Given the description of an element on the screen output the (x, y) to click on. 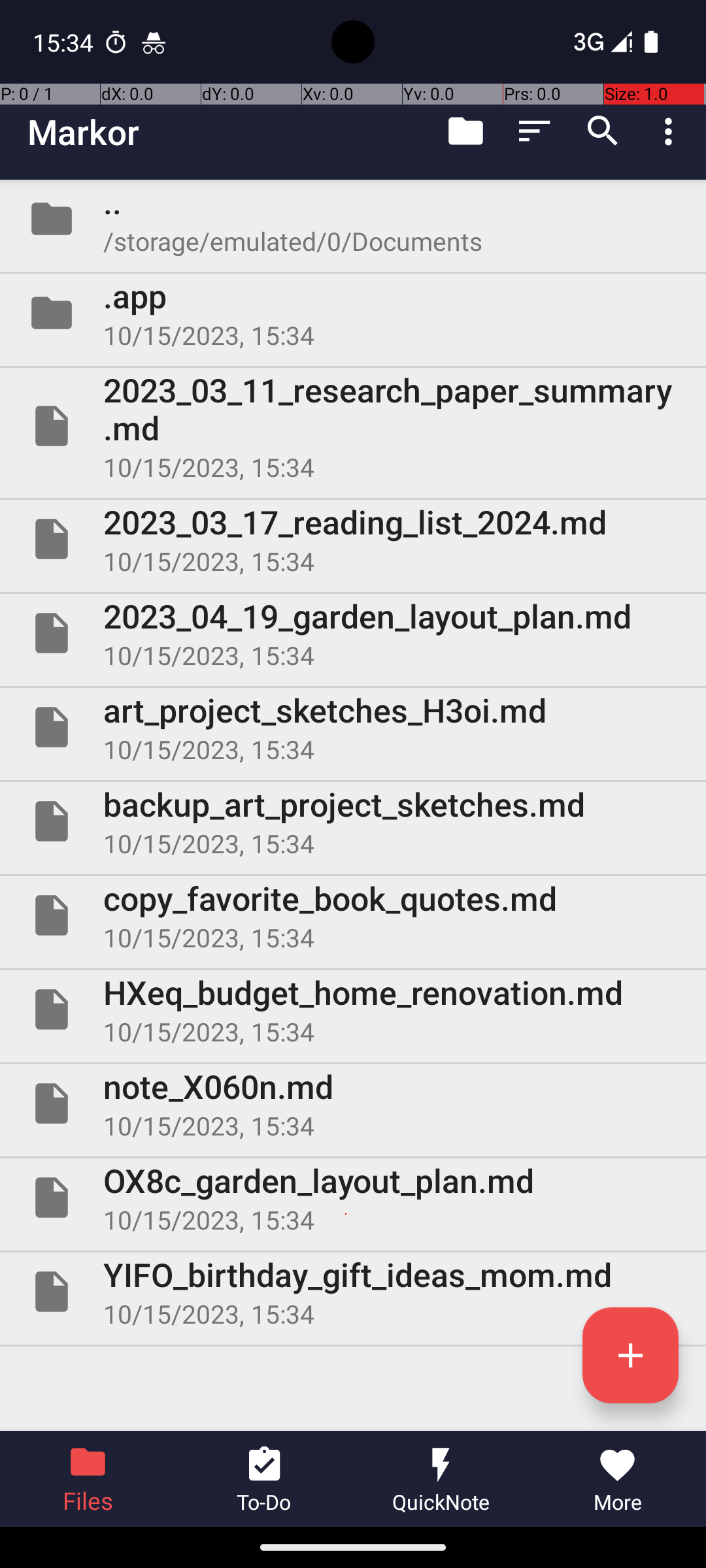
Folder .app  Element type: android.widget.LinearLayout (353, 312)
File 2023_03_11_research_paper_summary.md  Element type: android.widget.LinearLayout (353, 425)
File 2023_03_17_reading_list_2024.md  Element type: android.widget.LinearLayout (353, 538)
File 2023_04_19_garden_layout_plan.md  Element type: android.widget.LinearLayout (353, 632)
File art_project_sketches_H3oi.md  Element type: android.widget.LinearLayout (353, 726)
File backup_art_project_sketches.md  Element type: android.widget.LinearLayout (353, 821)
File copy_favorite_book_quotes.md  Element type: android.widget.LinearLayout (353, 915)
File HXeq_budget_home_renovation.md  Element type: android.widget.LinearLayout (353, 1009)
File note_X060n.md  Element type: android.widget.LinearLayout (353, 1103)
File OX8c_garden_layout_plan.md  Element type: android.widget.LinearLayout (353, 1197)
File YIFO_birthday_gift_ideas_mom.md  Element type: android.widget.LinearLayout (353, 1291)
